Given the description of an element on the screen output the (x, y) to click on. 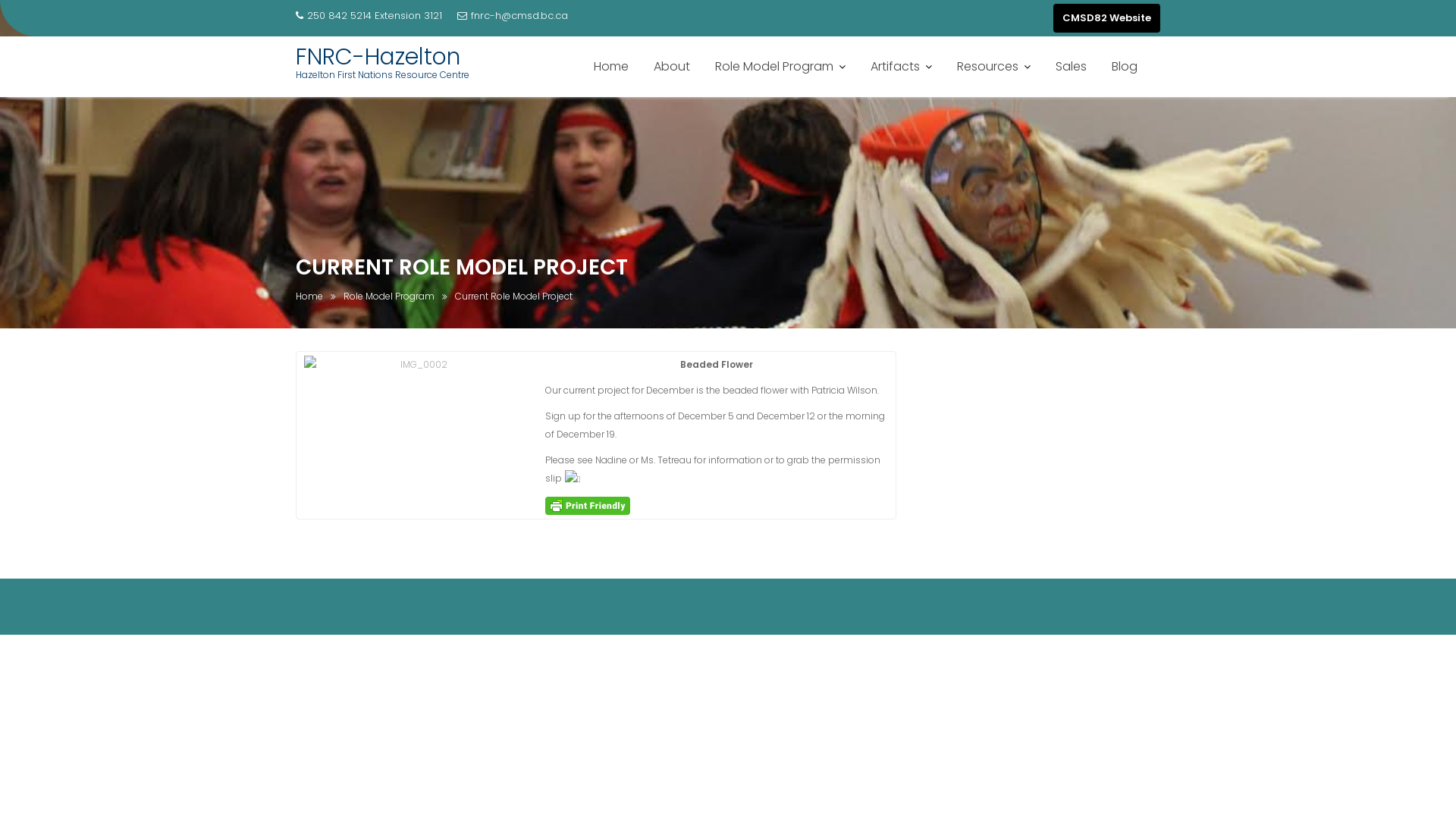
Home Element type: text (309, 296)
Role Model Program Element type: text (779, 66)
Artifacts Element type: text (901, 66)
FNRC-Hazelton Element type: text (377, 56)
Role Model Program Element type: text (388, 296)
About Element type: text (671, 66)
Home Element type: text (611, 66)
fnrc-h@cmsd.bc.ca Element type: text (512, 15)
CMSD82 Website Element type: text (1106, 17)
Blog Element type: text (1124, 66)
Printer Friendly, PDF & Email Element type: hover (587, 504)
Sales Element type: text (1071, 66)
Resources Element type: text (993, 66)
